Given the description of an element on the screen output the (x, y) to click on. 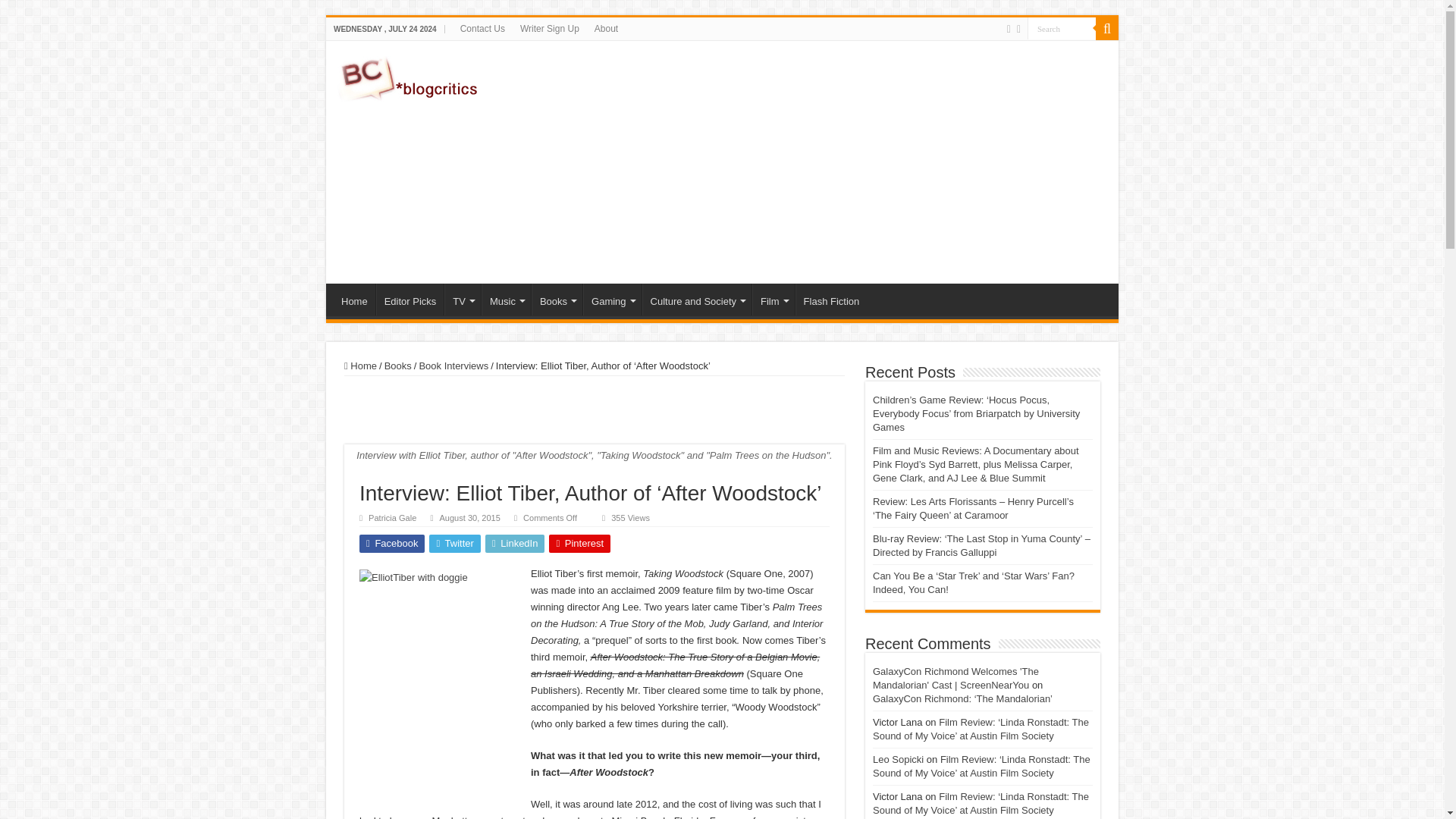
Advertisement (830, 162)
Search (1061, 28)
Blogcritics (409, 75)
Facebook (1008, 29)
Search (1061, 28)
Twitter (1018, 29)
Search (1061, 28)
